Given the description of an element on the screen output the (x, y) to click on. 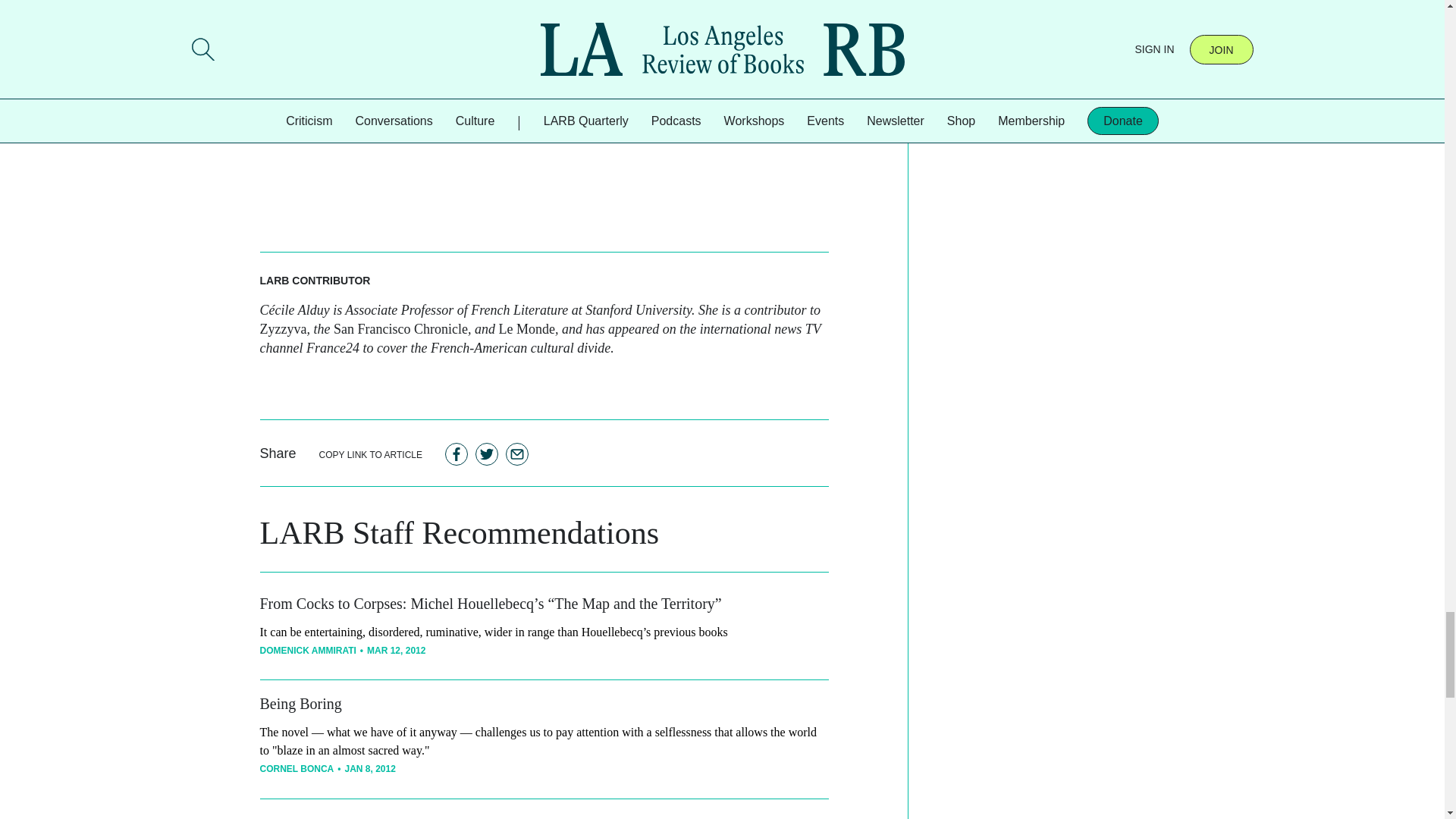
COPY LINK TO ARTICLE (370, 454)
CORNEL BONCA (296, 768)
Being Boring (299, 703)
DOMENICK AMMIRATI (307, 650)
Share on facebook (456, 454)
Share on twitter (486, 454)
